Given the description of an element on the screen output the (x, y) to click on. 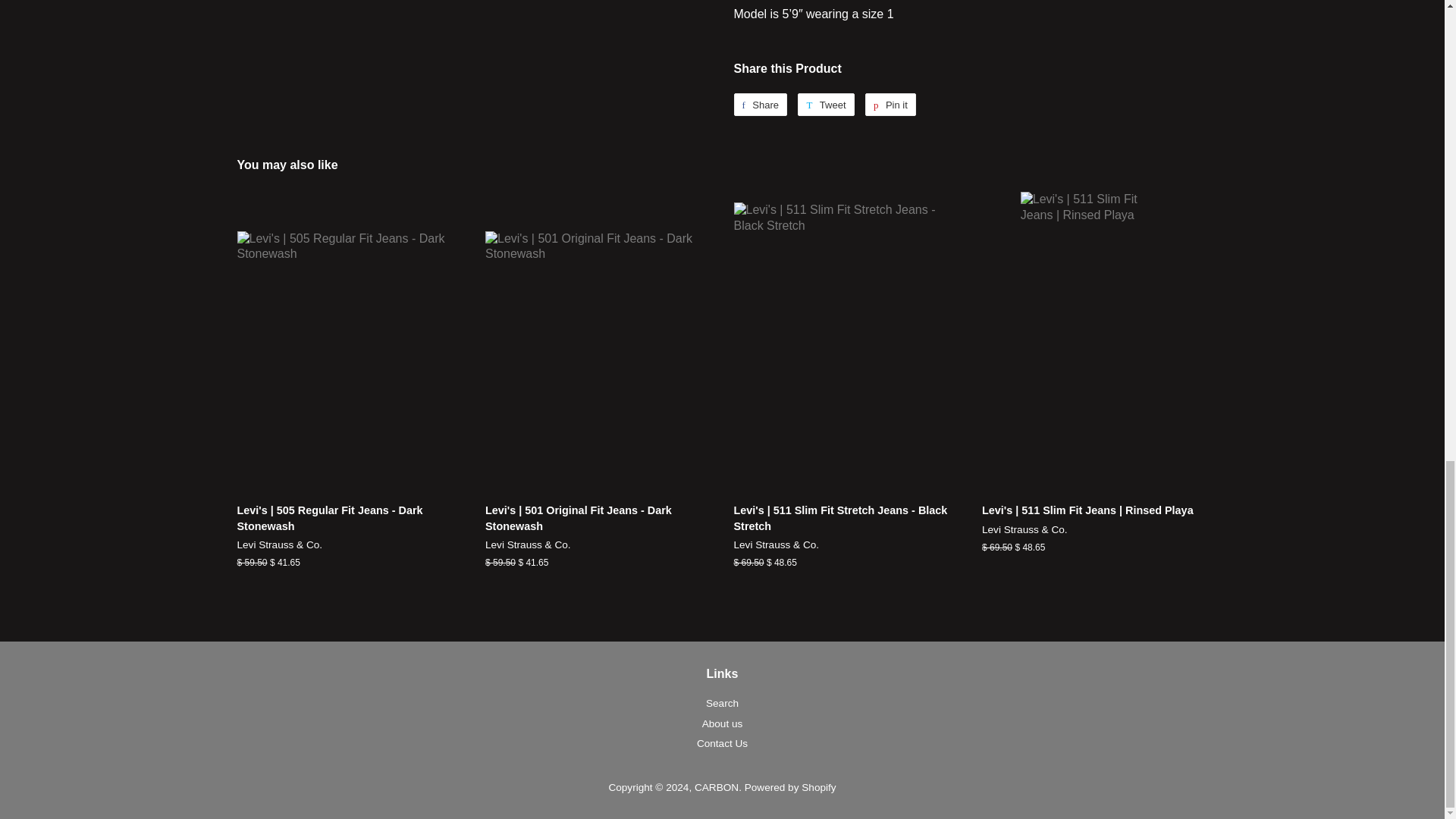
Pin on Pinterest (889, 104)
Tweet on Twitter (825, 104)
Share on Facebook (760, 104)
